Given the description of an element on the screen output the (x, y) to click on. 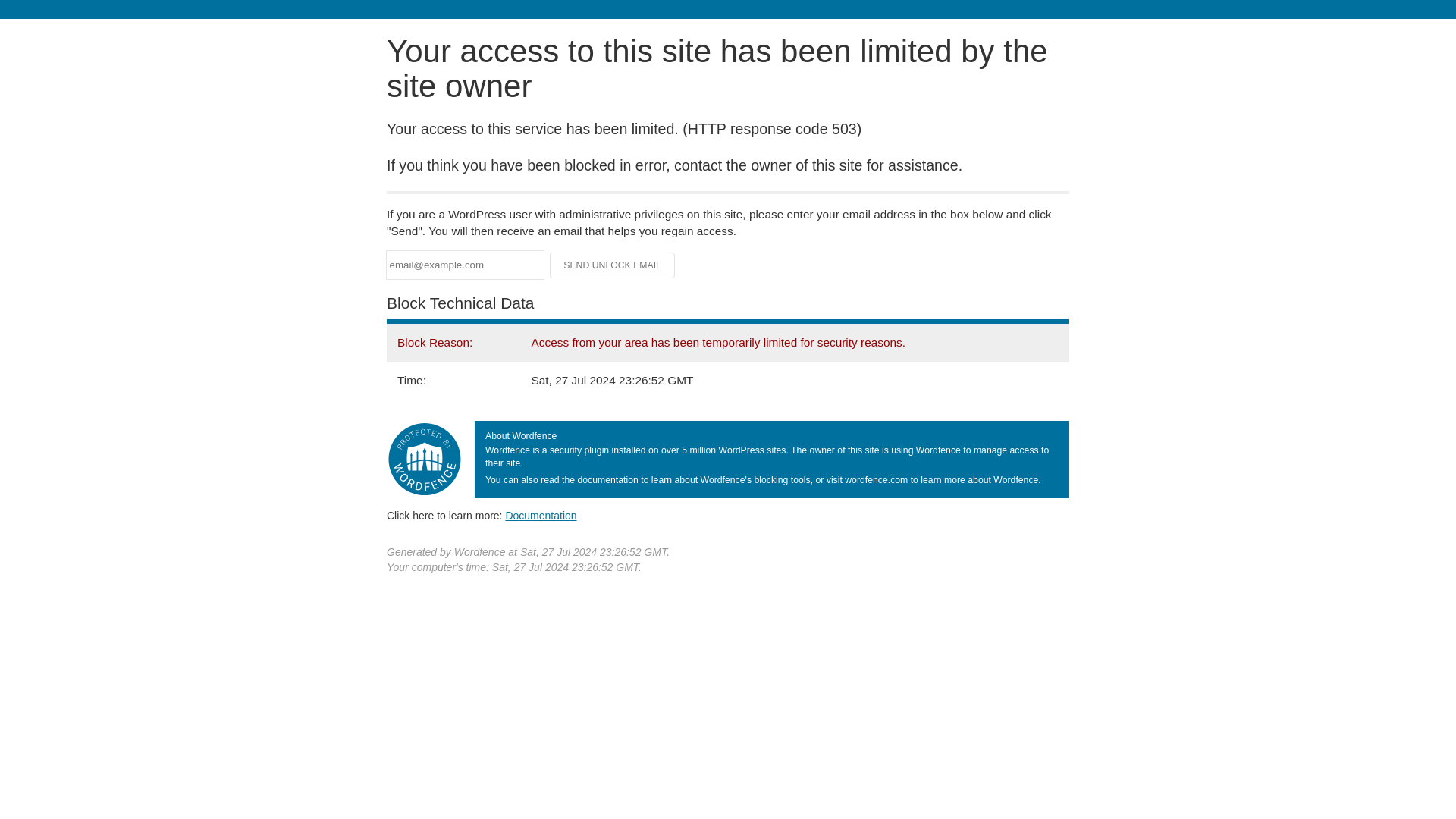
Send Unlock Email (612, 265)
Send Unlock Email (612, 265)
Documentation (540, 515)
